Given the description of an element on the screen output the (x, y) to click on. 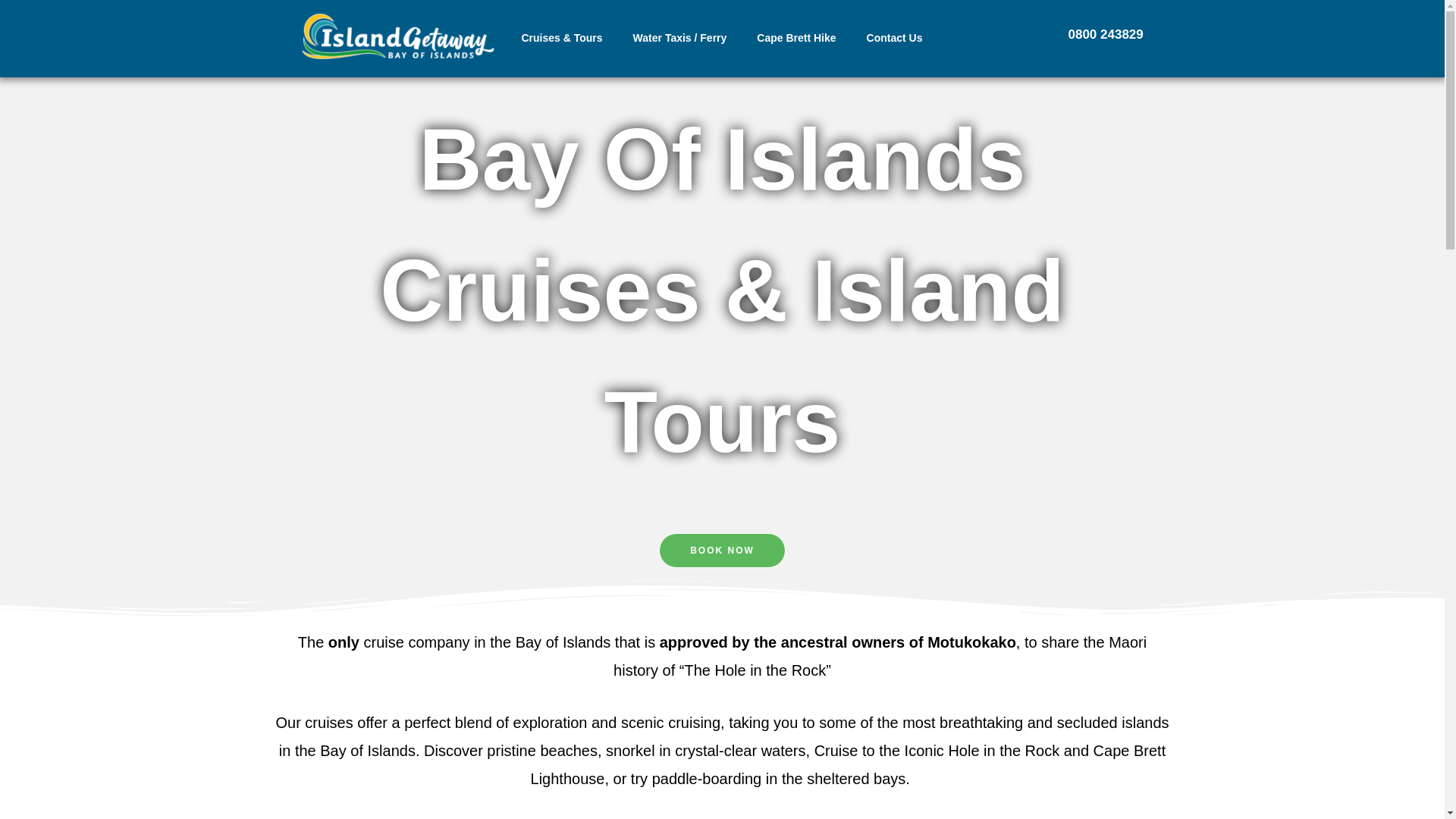
Contact Us (894, 38)
Cape Brett Hike (795, 38)
0800 243829 (1104, 34)
